Given the description of an element on the screen output the (x, y) to click on. 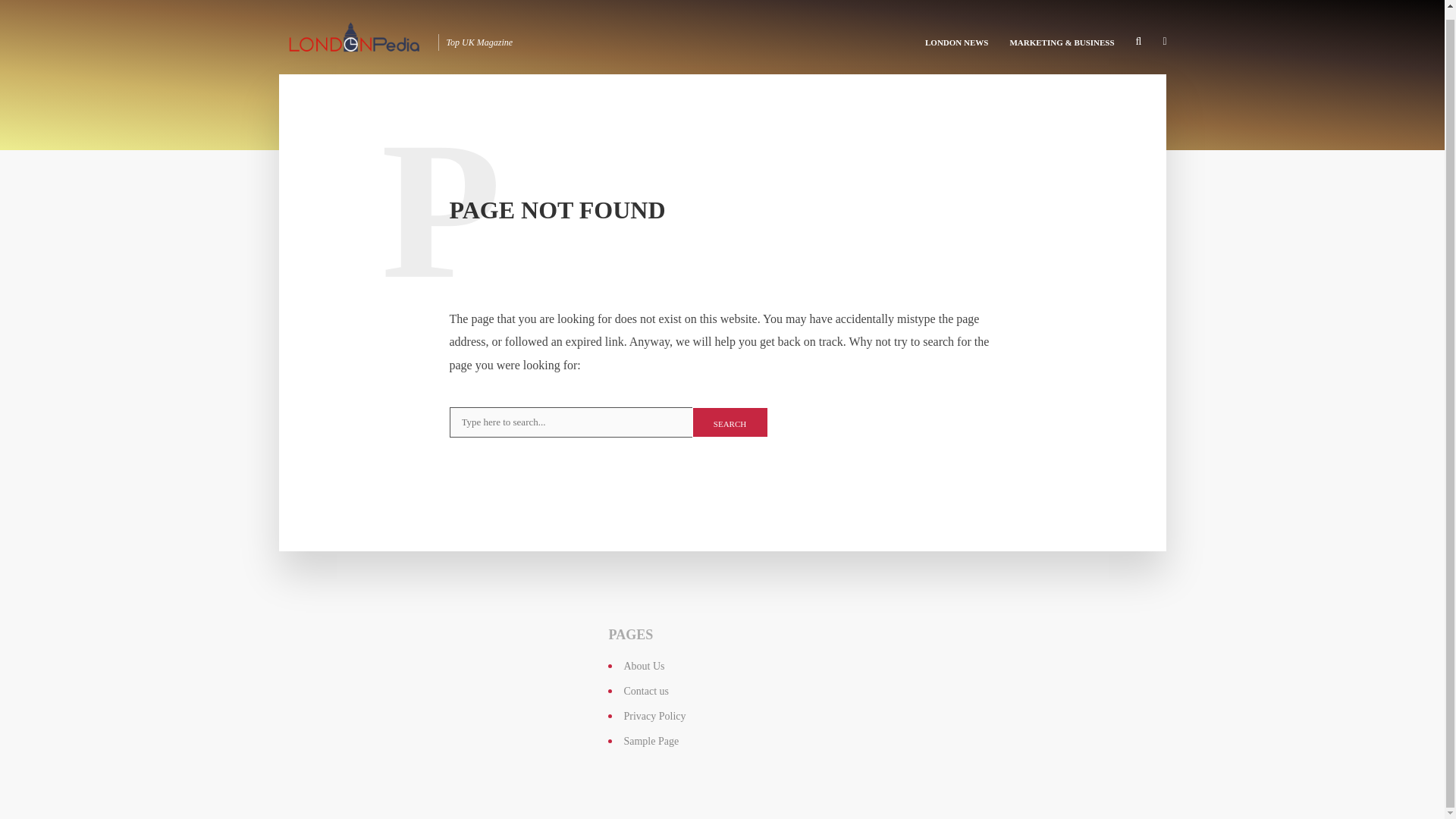
Sample Page (650, 740)
SEARCH (729, 422)
Contact us (645, 690)
Privacy Policy (654, 715)
About Us (643, 665)
LONDON NEWS (956, 33)
